Given the description of an element on the screen output the (x, y) to click on. 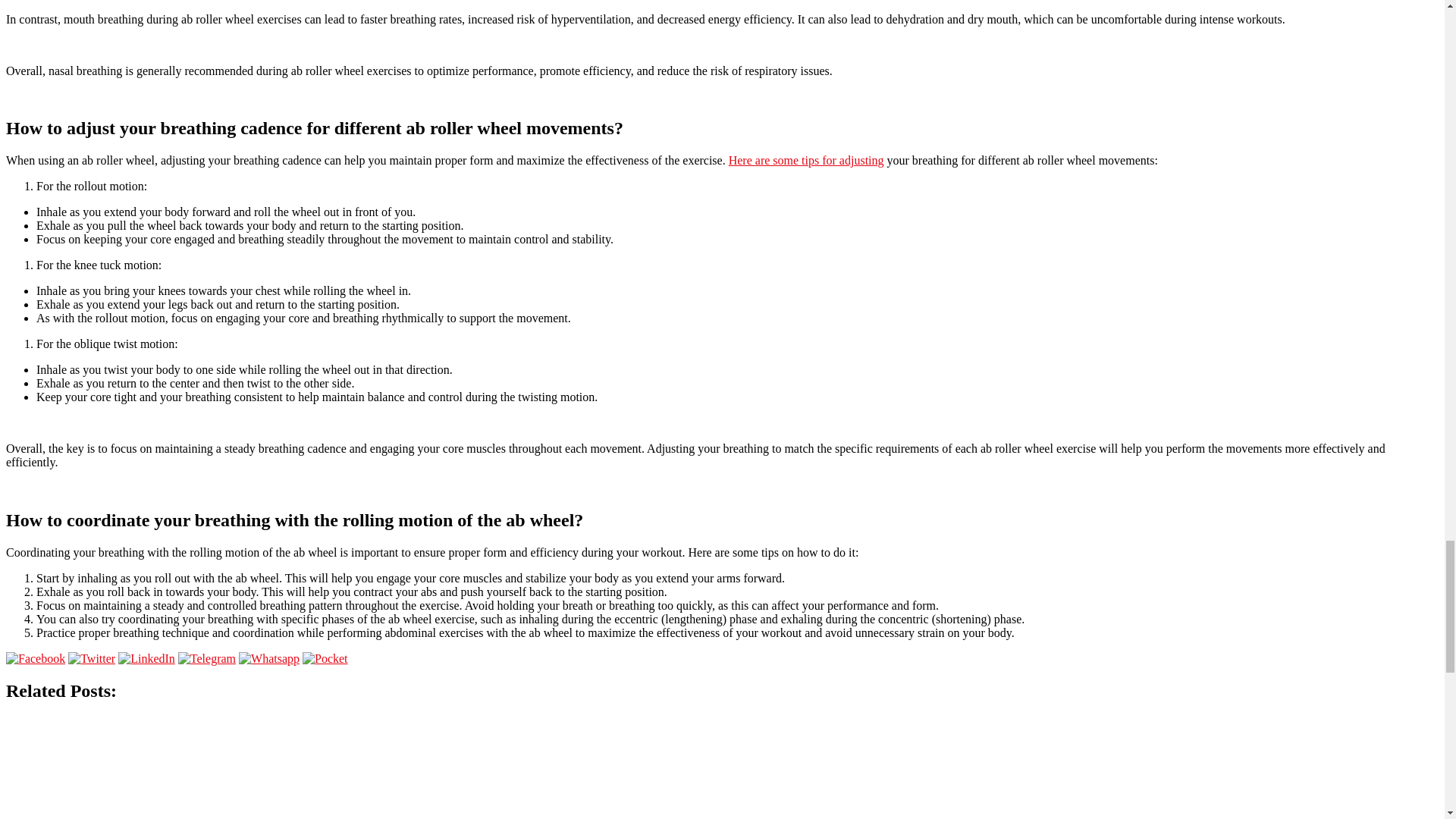
Whatsapp (268, 658)
Facebook (35, 658)
Telegram (206, 658)
Twitter (91, 658)
Here are some tips for adjusting (806, 160)
Pocket (324, 658)
LinkedIn (145, 658)
